Given the description of an element on the screen output the (x, y) to click on. 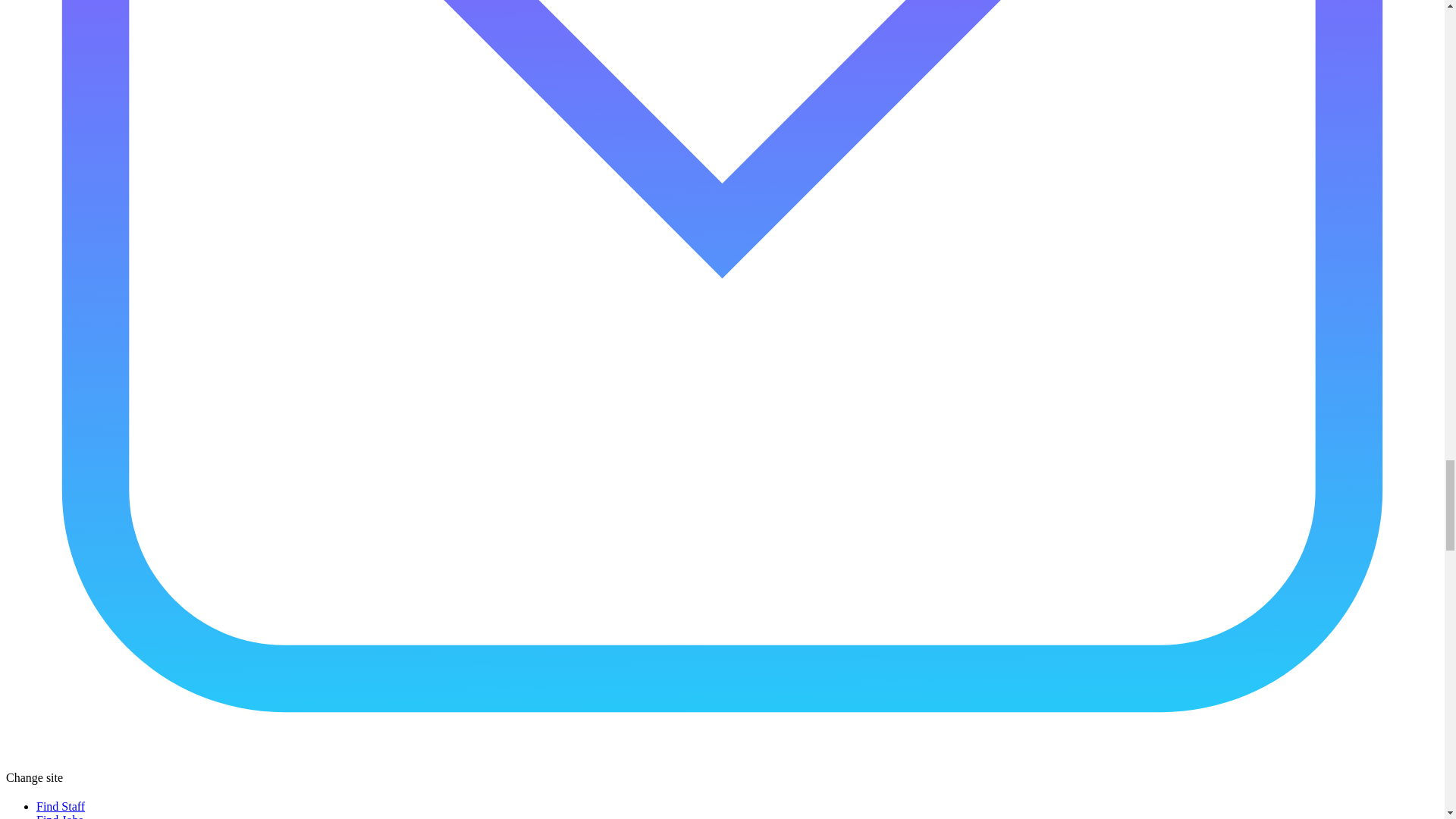
Find Jobs (59, 816)
Find Staff (60, 806)
